Given the description of an element on the screen output the (x, y) to click on. 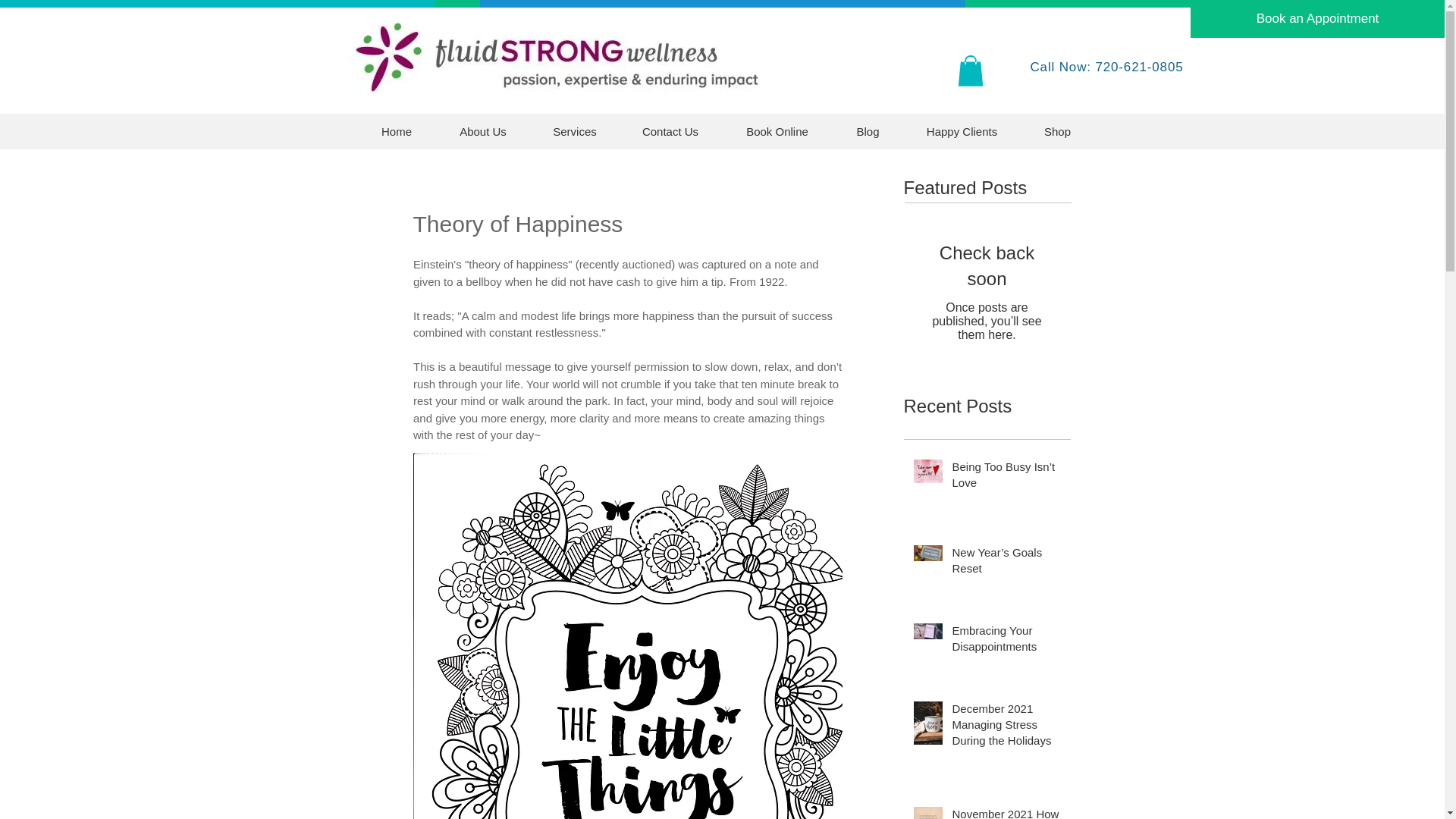
Book Online (777, 131)
November 2021 How Gratitude Can Change Your Life (1006, 812)
About Us (482, 131)
Services (575, 131)
Happy Clients (961, 131)
Call Now: 720-621-0805 (1105, 66)
Embracing Your Disappointments (1006, 641)
Contact Us (669, 131)
Blog (867, 131)
December 2021 Managing Stress During the Holidays (1006, 727)
Shop (1056, 131)
Home (396, 131)
